Given the description of an element on the screen output the (x, y) to click on. 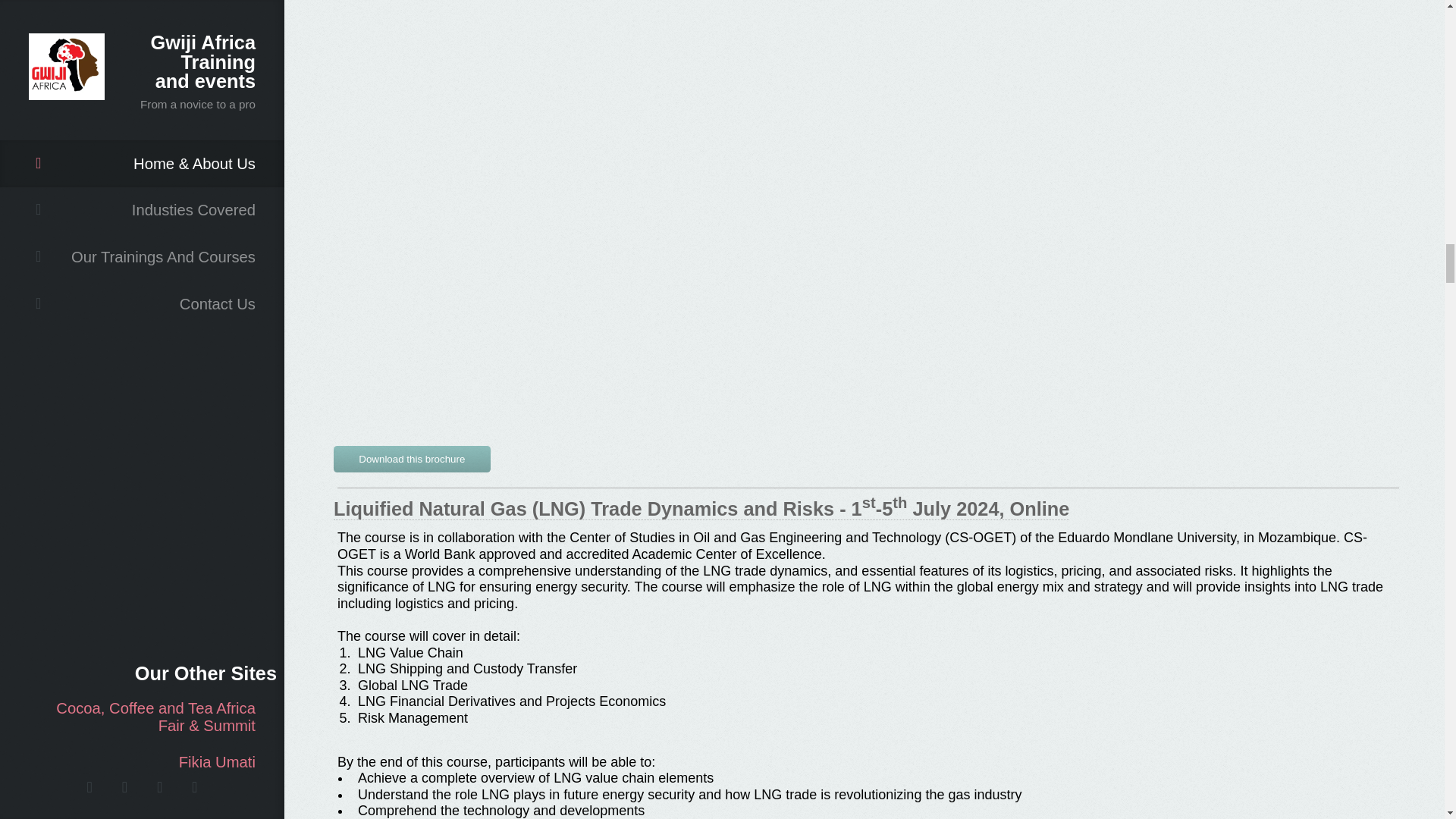
Download this brochure (411, 455)
Download this brochure (411, 458)
